Given the description of an element on the screen output the (x, y) to click on. 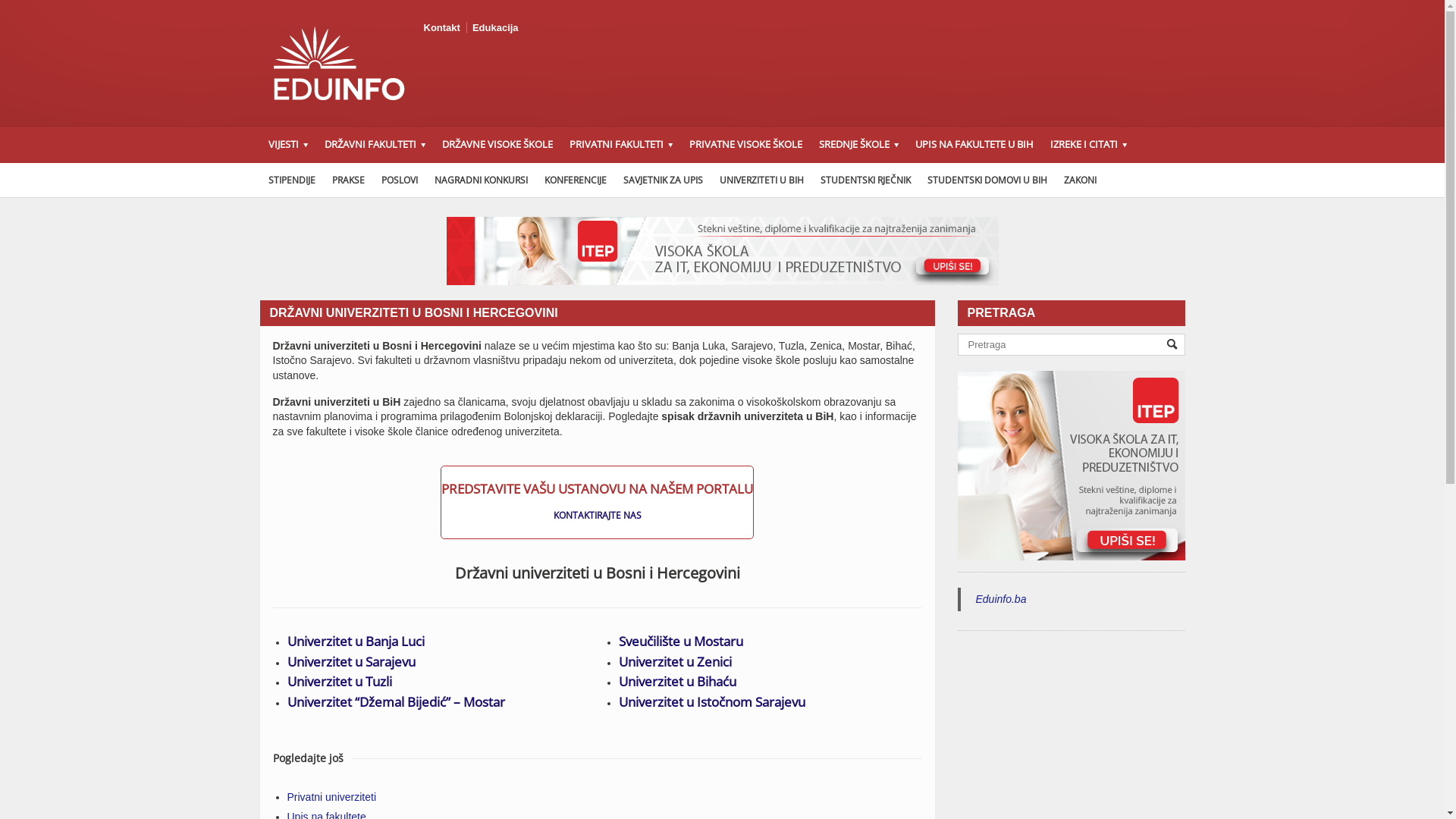
Privatni univerziteti Element type: text (331, 796)
BANJA LUKA Element type: text (652, 181)
Univerzitet u Zenici Element type: text (674, 661)
O LJUDIMA Element type: text (1176, 181)
BANJA LUKA Element type: text (406, 181)
O SLOBODI Element type: text (1165, 181)
PRAKSE Element type: text (347, 180)
IZREKE I CITATI Element type: text (1088, 144)
O USPJEHU Element type: text (1162, 181)
POSLOVI Element type: text (399, 180)
UNIVERZITETI U BIH Element type: text (761, 180)
SAVJETI ZA STUDENTE Element type: text (361, 181)
UPIS NA FAKULTETE U BIH Element type: text (973, 144)
KONTAKTIRAJTE NAS Element type: text (597, 514)
STUDENTSKI DOMOVI U BIH Element type: text (987, 180)
O HRABROSTI Element type: text (1150, 181)
SARAJEVO Element type: text (668, 181)
STIPENDIJE Element type: text (291, 180)
MOSTAR Element type: text (423, 181)
STUDIRANJE Element type: text (364, 181)
O OBRAZOVANJU Element type: text (1173, 181)
SARAJEVO Element type: text (429, 181)
NAGRADNI KONKURSI Element type: text (481, 180)
O LJUBAVI Element type: text (1145, 181)
ZAKONI Element type: text (1079, 180)
O IDEJAMA Element type: text (1158, 181)
O MOTIVACIJI Element type: text (1139, 181)
VIJESTI Element type: text (287, 144)
SAVJETNIK ZA UPIS Element type: text (662, 180)
Kontakt Element type: text (441, 27)
TRAVNIK Element type: text (674, 181)
BIJELJINA Element type: text (660, 181)
IZREKE I CITATI POZNATIH Element type: text (1177, 181)
Search Element type: text (1171, 343)
Univerzitet u Tuzli Element type: text (338, 681)
Edukacija Element type: text (495, 27)
ZANIMLJIVOSTI Element type: text (354, 181)
SVI GRADOVI Element type: text (435, 181)
O VREMENU Element type: text (1171, 181)
Univerzitet u Banja Luci Element type: text (354, 640)
SVI GRADOVI Element type: text (680, 181)
KONFERENCIJE Element type: text (574, 180)
O PRIJATELJSTVU Element type: text (1154, 181)
Univerzitet u Sarajevu Element type: text (350, 661)
Eduinfo.ba Element type: text (1000, 599)
PRIVATNI FAKULTETI Element type: text (620, 144)
O AMBICIJI Element type: text (1168, 181)
NAUKA I TEHNOLOGIJA Element type: text (350, 181)
